Given the description of an element on the screen output the (x, y) to click on. 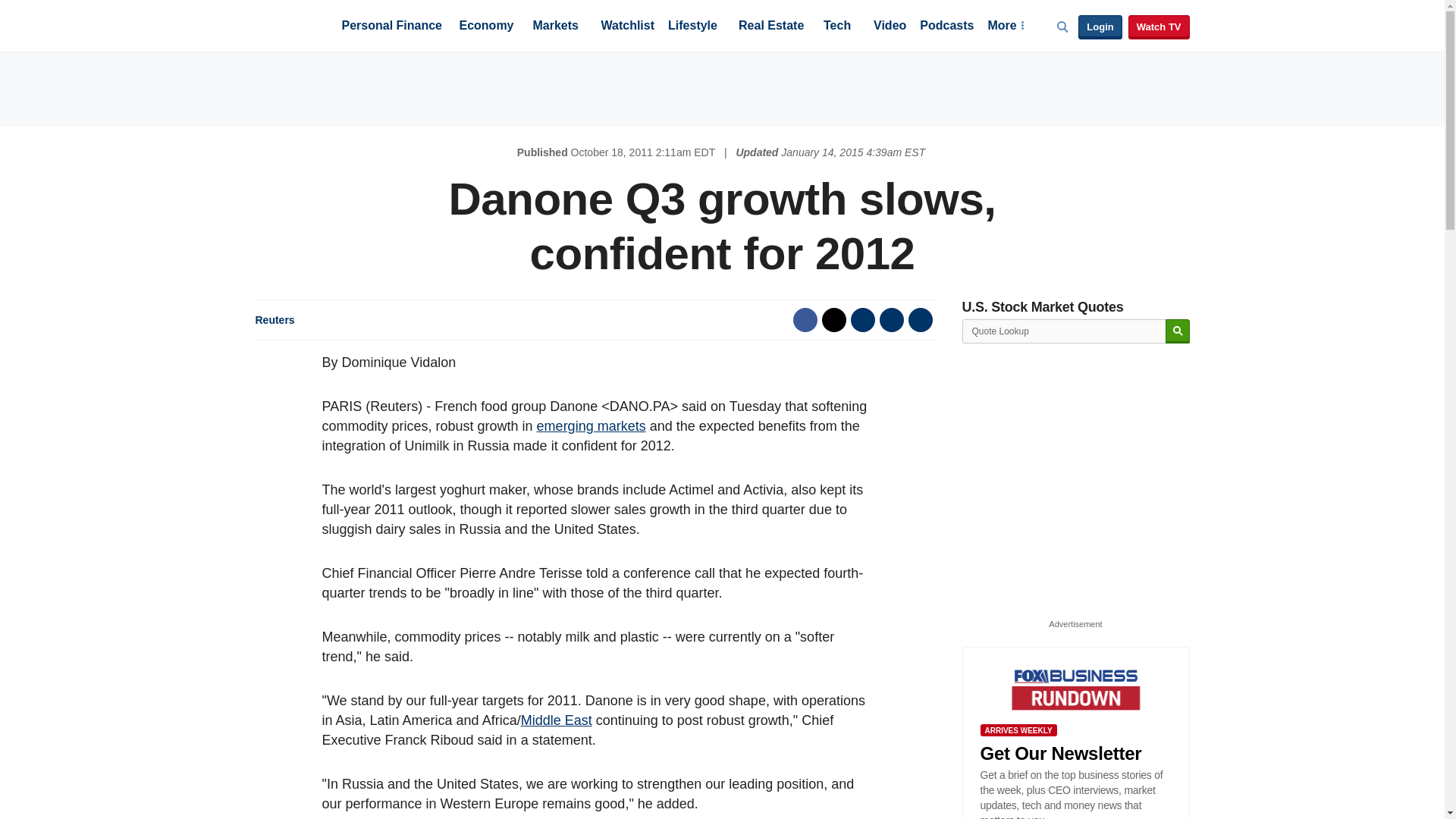
Fox Business (290, 24)
Personal Finance (391, 27)
Podcasts (947, 27)
More (1005, 27)
Search (1176, 331)
Watch TV (1158, 27)
Markets (555, 27)
Watchlist (626, 27)
Real Estate (770, 27)
Tech (837, 27)
Lifestyle (692, 27)
Video (889, 27)
Search (1176, 331)
Economy (486, 27)
Login (1099, 27)
